Given the description of an element on the screen output the (x, y) to click on. 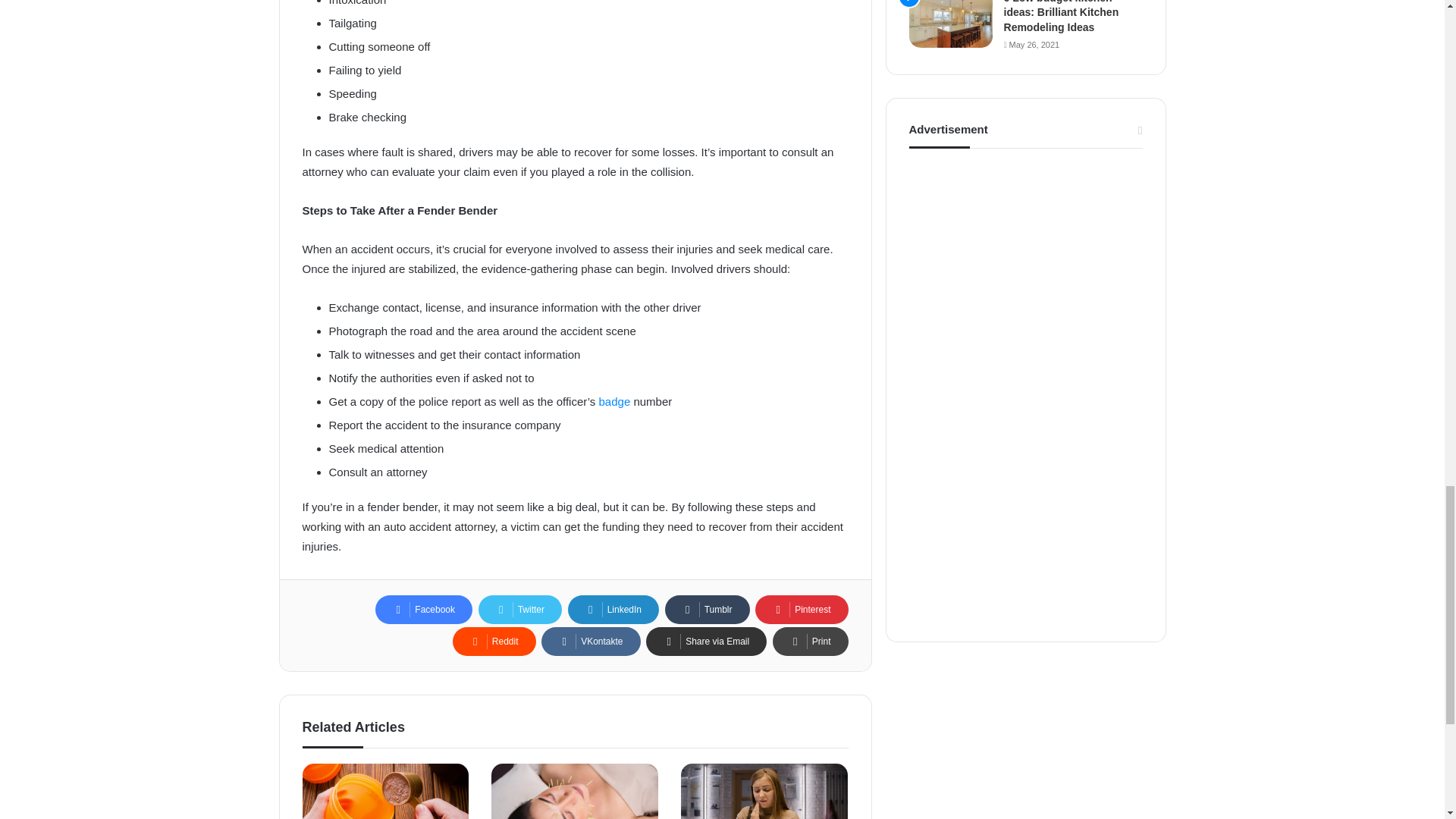
Twitter (520, 609)
Reddit (493, 641)
Facebook (423, 609)
Share via Email (706, 641)
LinkedIn (613, 609)
Tumblr (707, 609)
Twitter (520, 609)
VKontakte (590, 641)
Pinterest (801, 609)
badge (614, 400)
LinkedIn (613, 609)
Pinterest (801, 609)
Facebook (423, 609)
Print (810, 641)
Tumblr (707, 609)
